Given the description of an element on the screen output the (x, y) to click on. 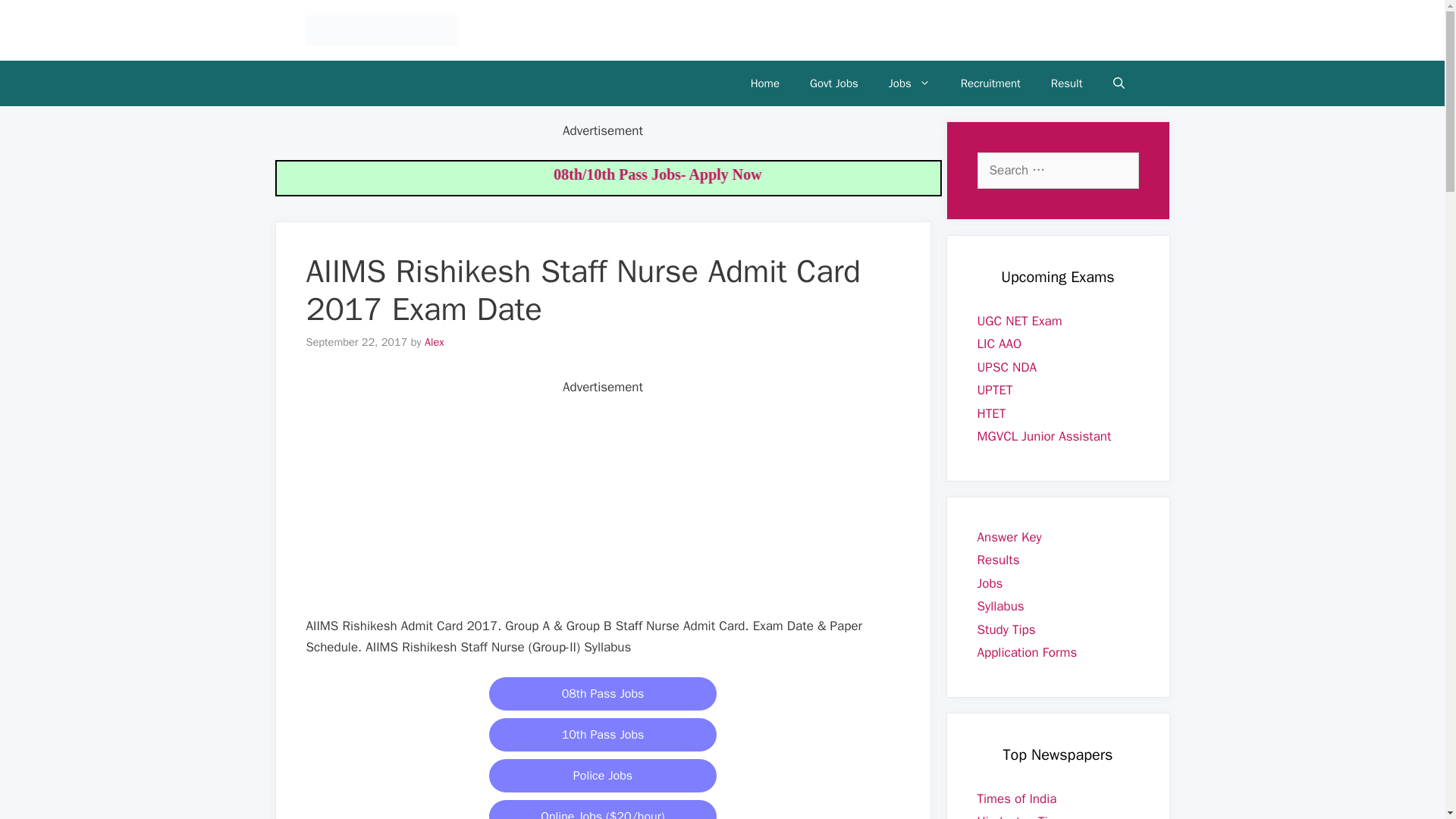
View all posts by Alex (434, 341)
08th Pass Jobs (602, 693)
10th Pass Jobs (602, 734)
Police Jobs (602, 775)
Police Jobs (602, 774)
Jobs (908, 83)
Search for: (1057, 170)
08th Pass Jobs (602, 693)
Advertisement (608, 503)
Home (764, 83)
